Given the description of an element on the screen output the (x, y) to click on. 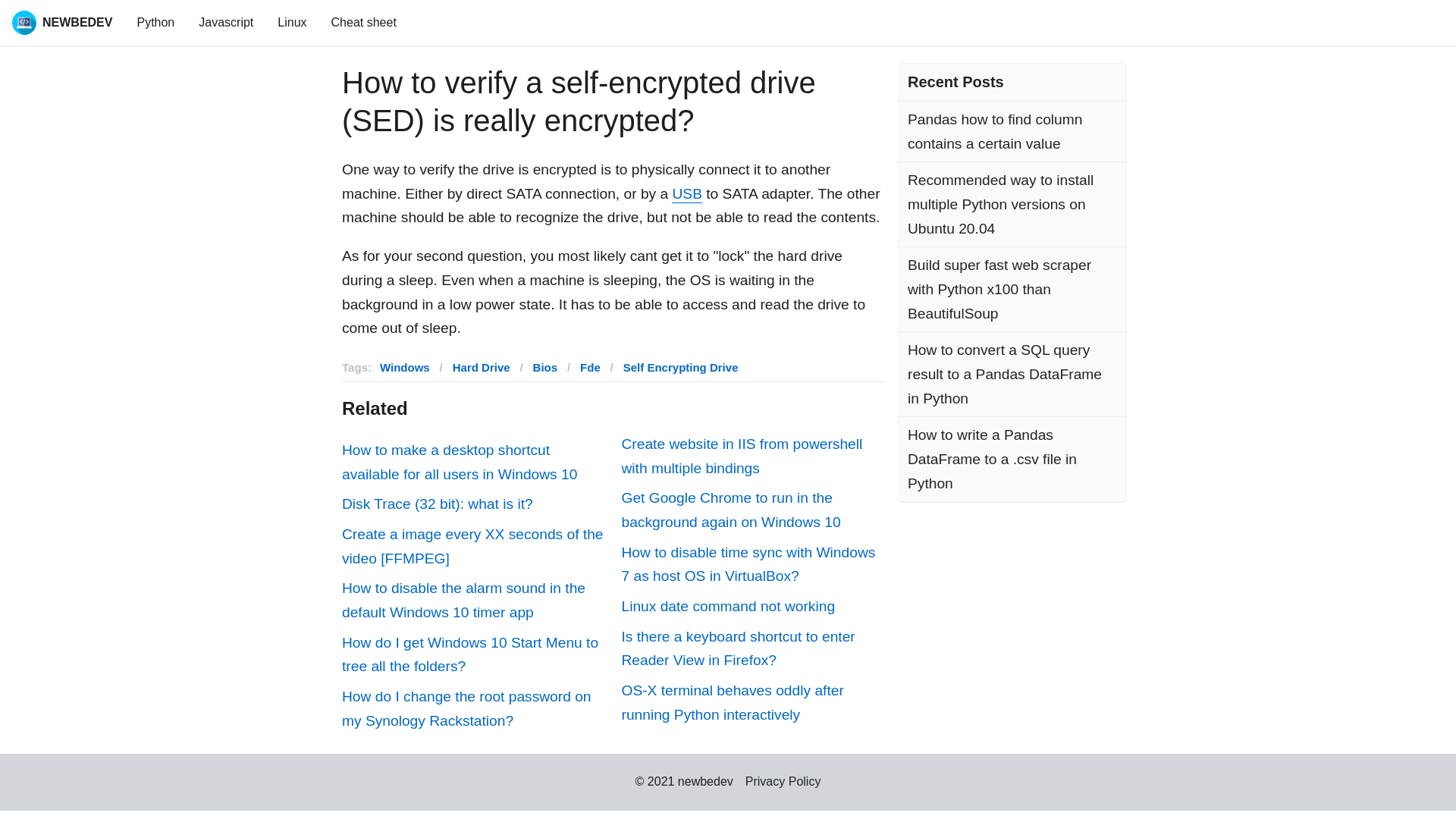
Python (154, 22)
Javascript (225, 22)
Hard Drive (481, 367)
Self Encrypting Drive (680, 367)
Self Encrypting Drive (680, 367)
Privacy Policy (783, 780)
Bios (544, 367)
Fde (589, 367)
How do I get Windows 10 Start Menu to tree all the folders? (474, 654)
Linux (291, 22)
Hard Drive (481, 367)
Windows (404, 367)
Bios (544, 367)
